Given the description of an element on the screen output the (x, y) to click on. 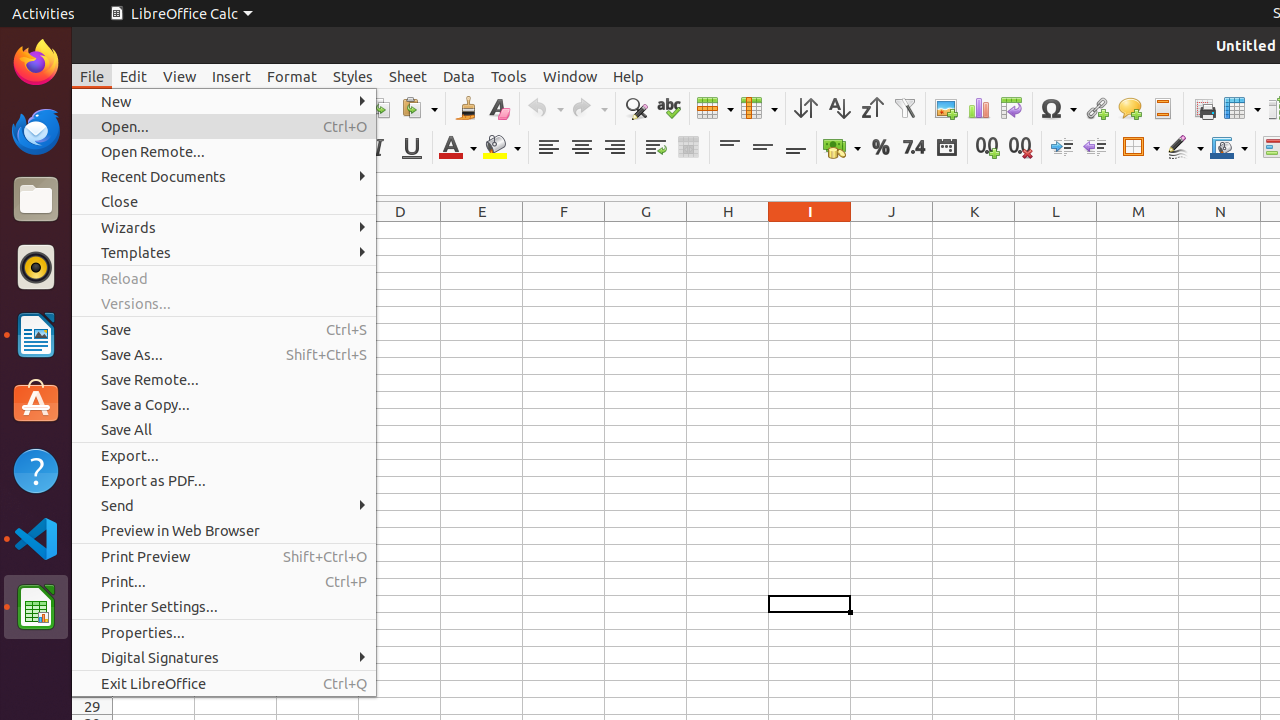
G1 Element type: table-cell (646, 230)
Redo Element type: push-button (589, 108)
I1 Element type: table-cell (810, 230)
M1 Element type: table-cell (1138, 230)
Freeze Rows and Columns Element type: push-button (1242, 108)
